Given the description of an element on the screen output the (x, y) to click on. 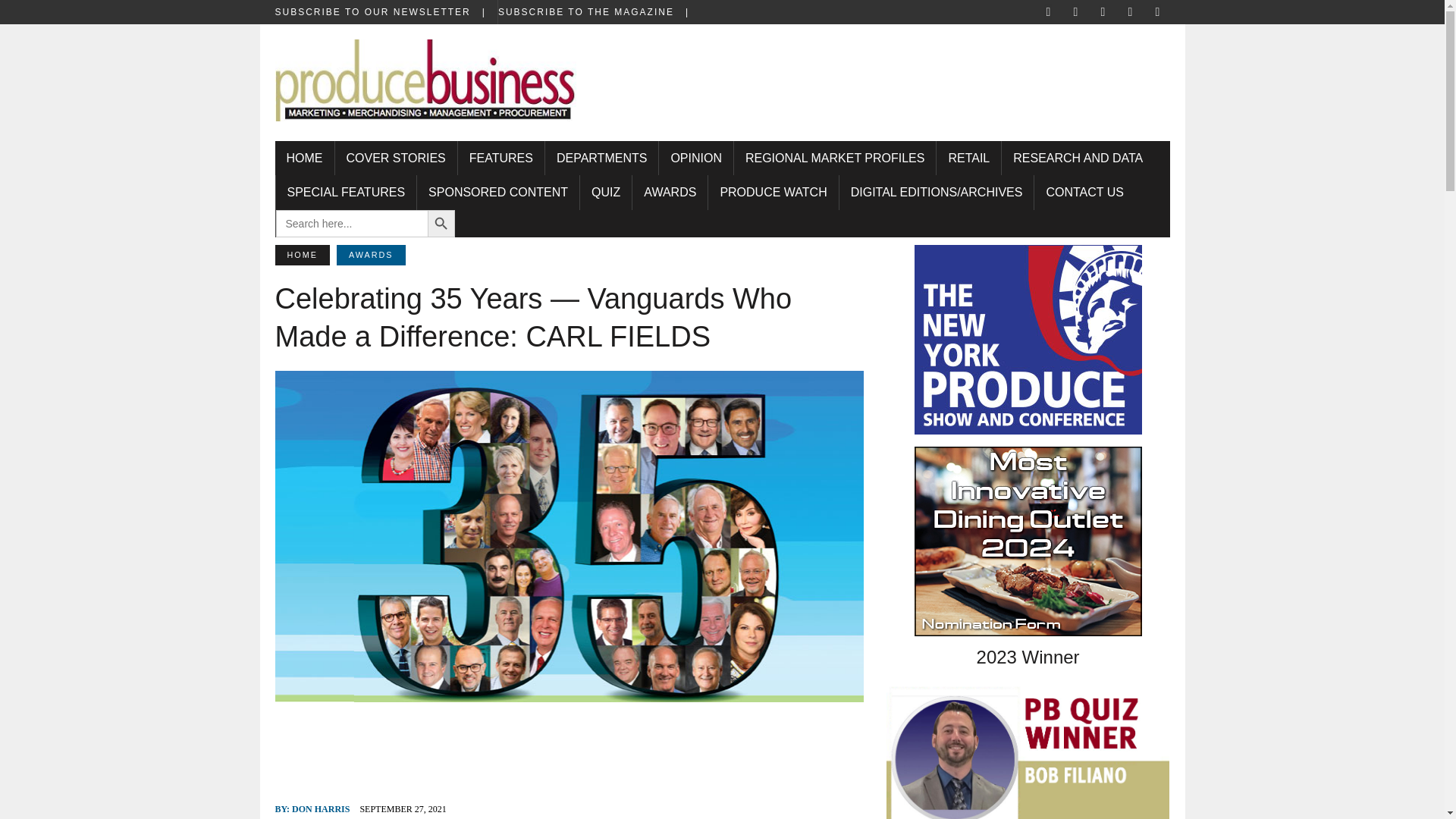
SUBSCRIBE TO OUR NEWSLETTER (385, 12)
SUBSCRIBE TO THE MAGAZINE (598, 12)
3rd party ad content (890, 73)
3rd party ad content (569, 744)
Produce Business (425, 89)
